Given the description of an element on the screen output the (x, y) to click on. 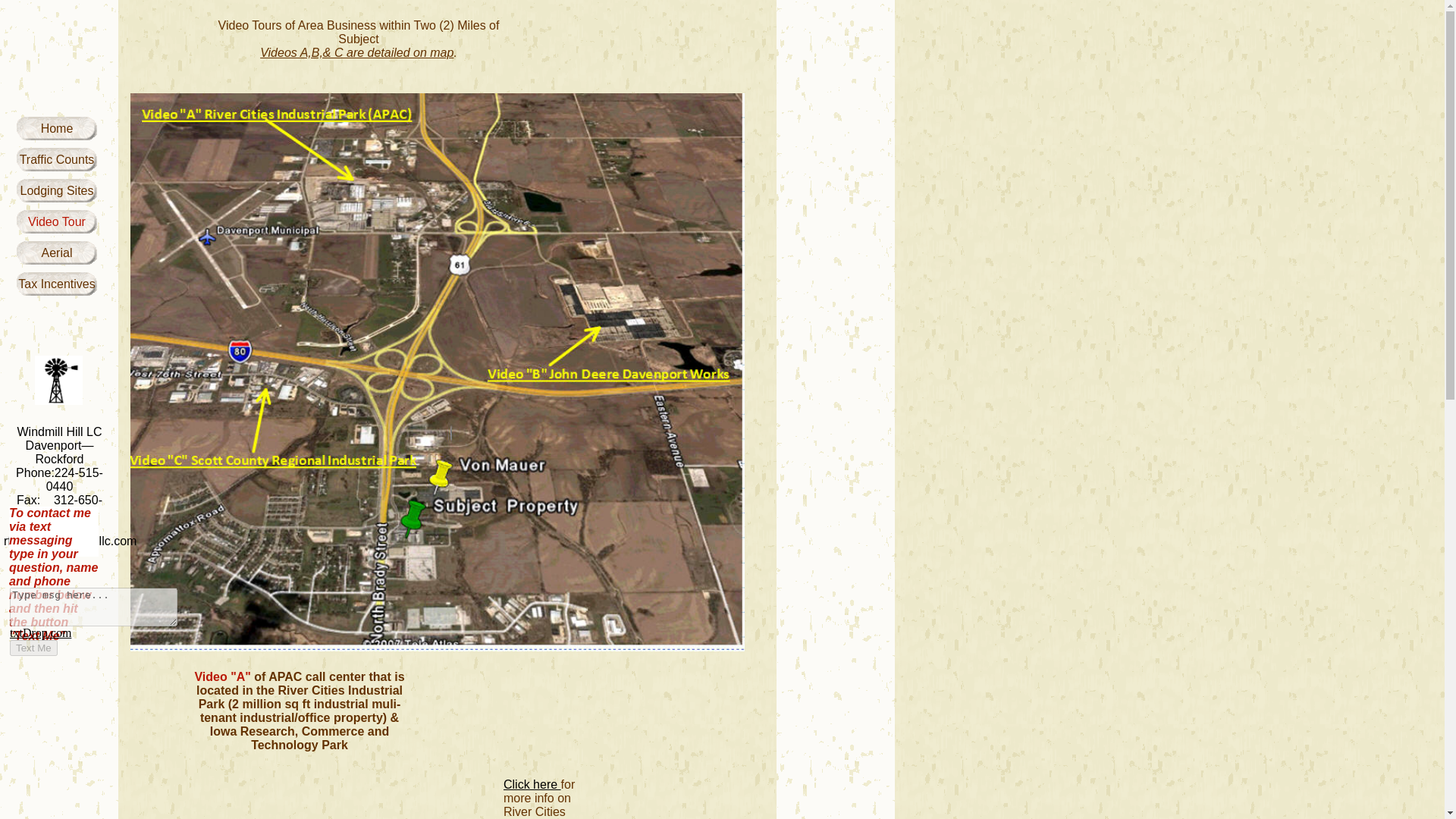
txtDrop.com (40, 632)
Click here (531, 784)
Text Me (34, 647)
Text Me (34, 647)
